Given the description of an element on the screen output the (x, y) to click on. 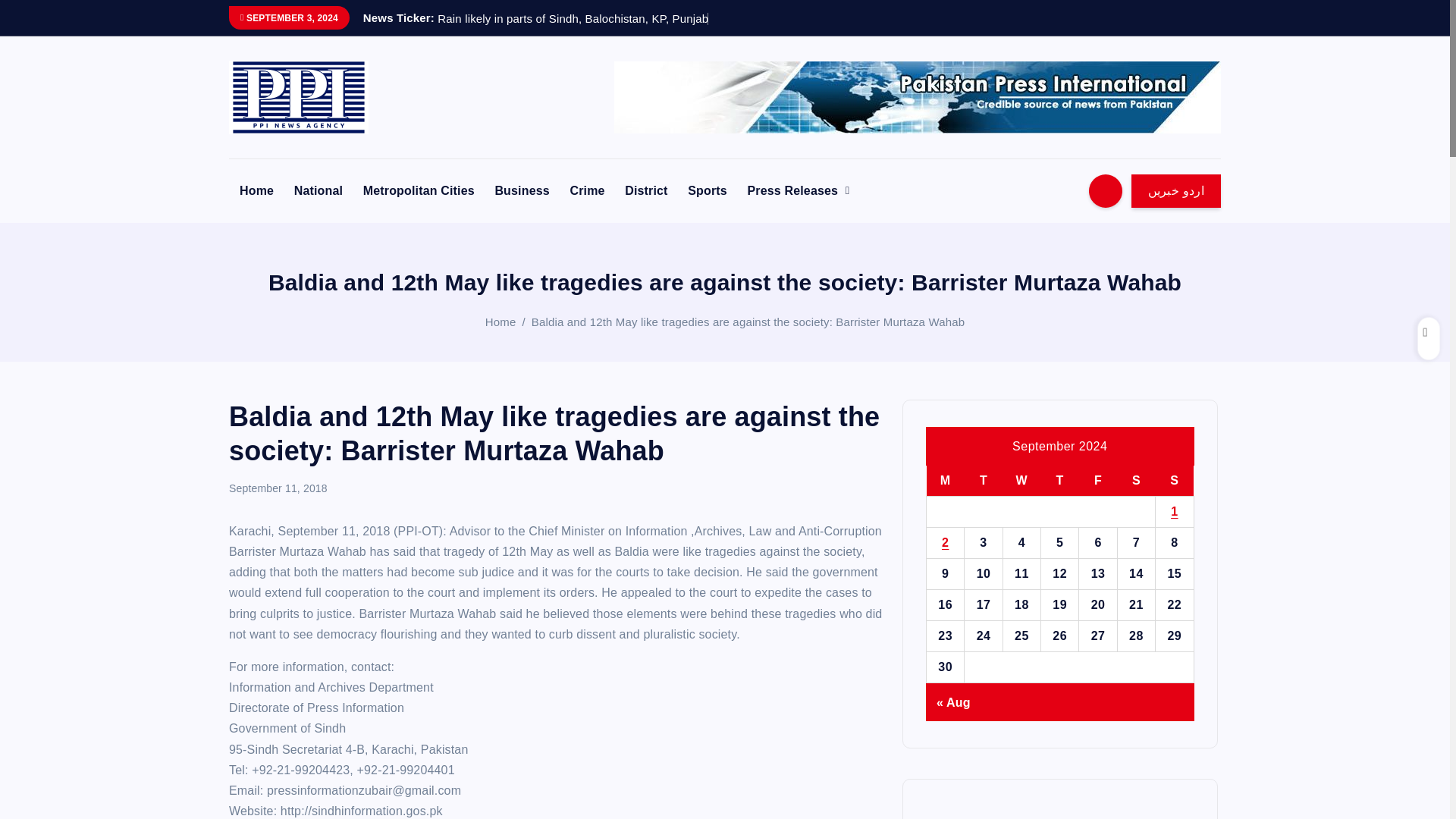
Business (521, 190)
Home (500, 321)
District (646, 190)
Home (255, 190)
Business (521, 190)
Crime (586, 190)
National (318, 190)
Press Releases (798, 190)
National (318, 190)
Crime (586, 190)
